Given the description of an element on the screen output the (x, y) to click on. 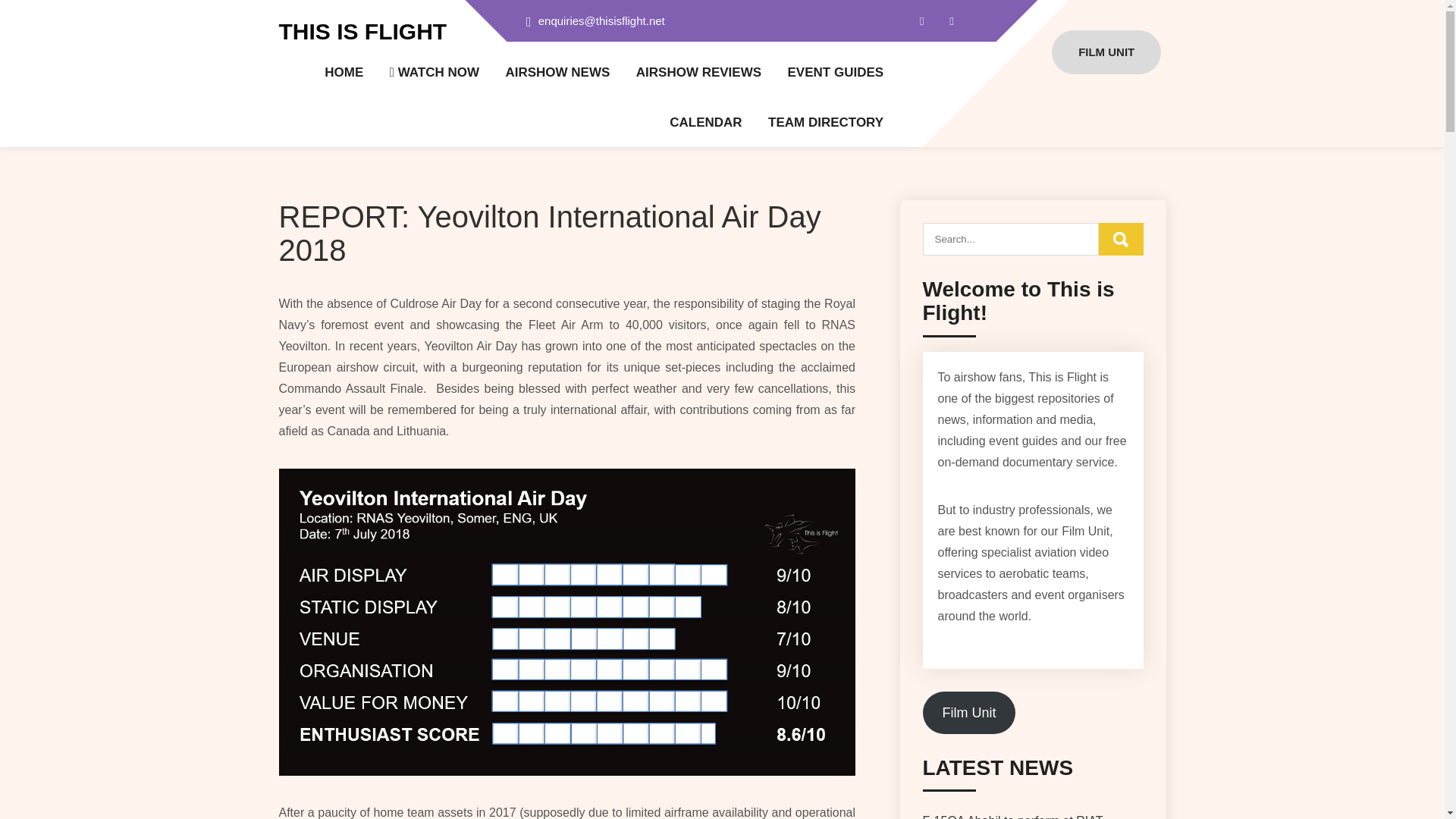
TEAM DIRECTORY (825, 121)
Film Unit (967, 712)
THIS IS FLIGHT (362, 31)
Search (1120, 238)
CALENDAR (705, 121)
Search (1120, 238)
Search (1120, 238)
FILM UNIT (1105, 52)
EVENT GUIDES (835, 72)
AIRSHOW NEWS (557, 72)
HOME (343, 72)
AIRSHOW REVIEWS (698, 72)
